Given the description of an element on the screen output the (x, y) to click on. 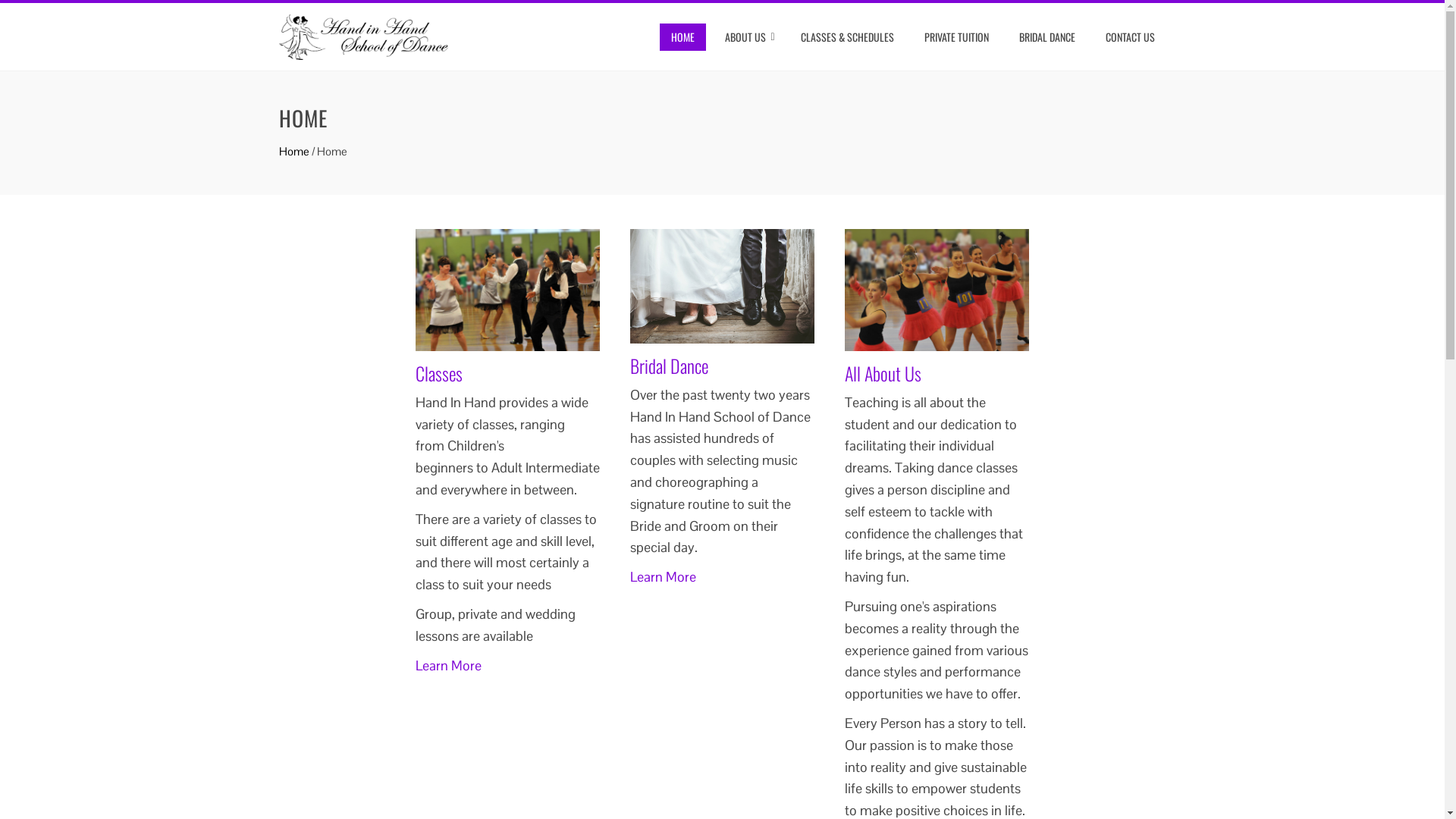
Home Element type: text (294, 151)
CLASSES & SCHEDULES Element type: text (846, 36)
Learn More Element type: text (448, 665)
BRIDAL DANCE Element type: text (1046, 36)
PRIVATE TUITION Element type: text (956, 36)
Bridal Dance Element type: text (669, 365)
CONTACT US Element type: text (1129, 36)
Learn More Element type: text (663, 576)
ABOUT US Element type: text (746, 36)
All About Us Element type: text (882, 372)
Classes Element type: text (438, 372)
HOME Element type: text (682, 36)
